Given the description of an element on the screen output the (x, y) to click on. 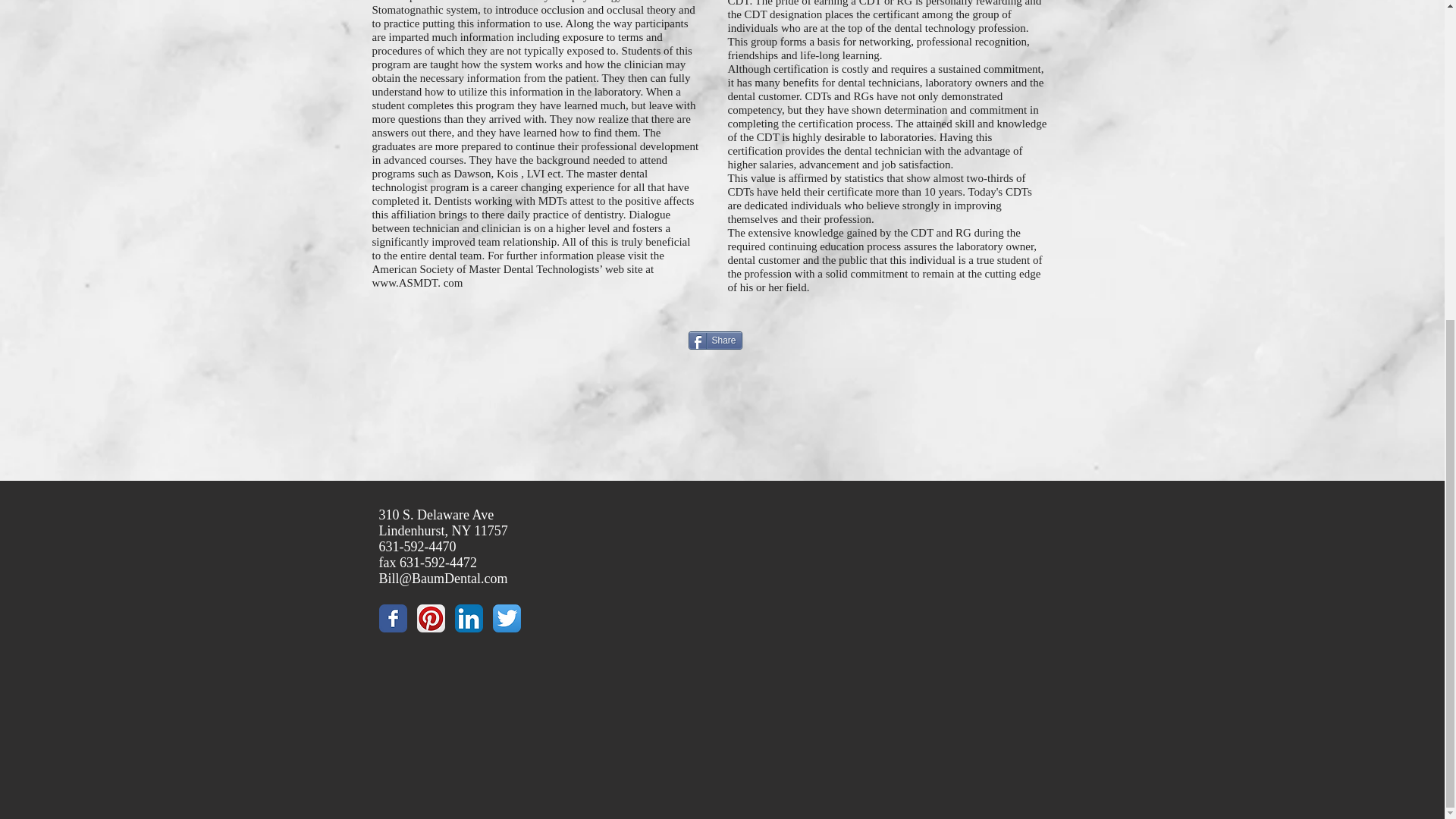
Share (715, 340)
www.ASMDT (404, 282)
Share (715, 340)
